Given the description of an element on the screen output the (x, y) to click on. 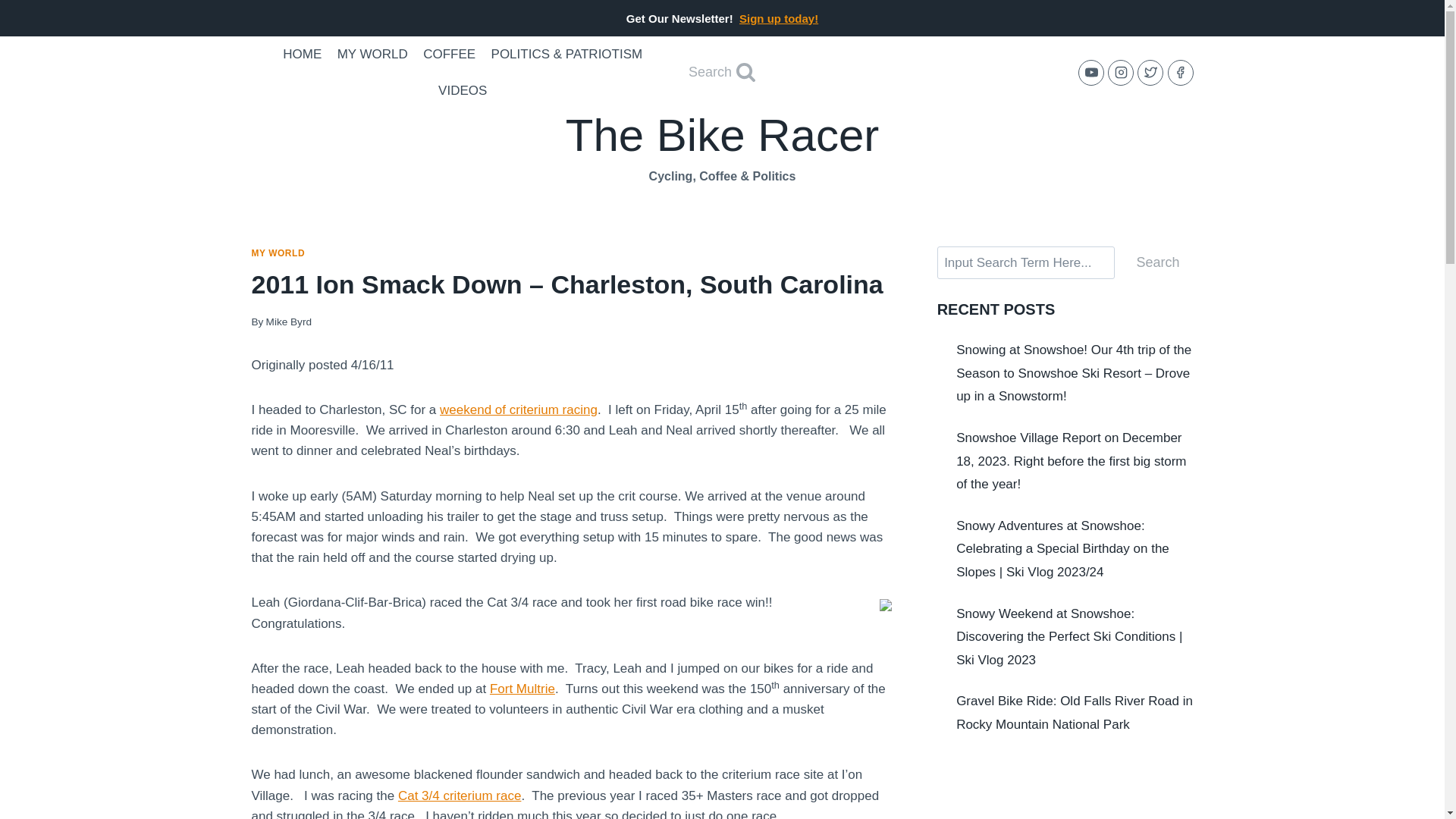
MY WORLD (278, 253)
Search (721, 72)
Fort Multrie (521, 688)
weekend of criterium racing (517, 409)
VIDEOS (462, 90)
Sign up today! (778, 18)
Sign up today! (778, 18)
HOME (302, 54)
MY WORLD (371, 54)
Advertisement (1065, 787)
